Given the description of an element on the screen output the (x, y) to click on. 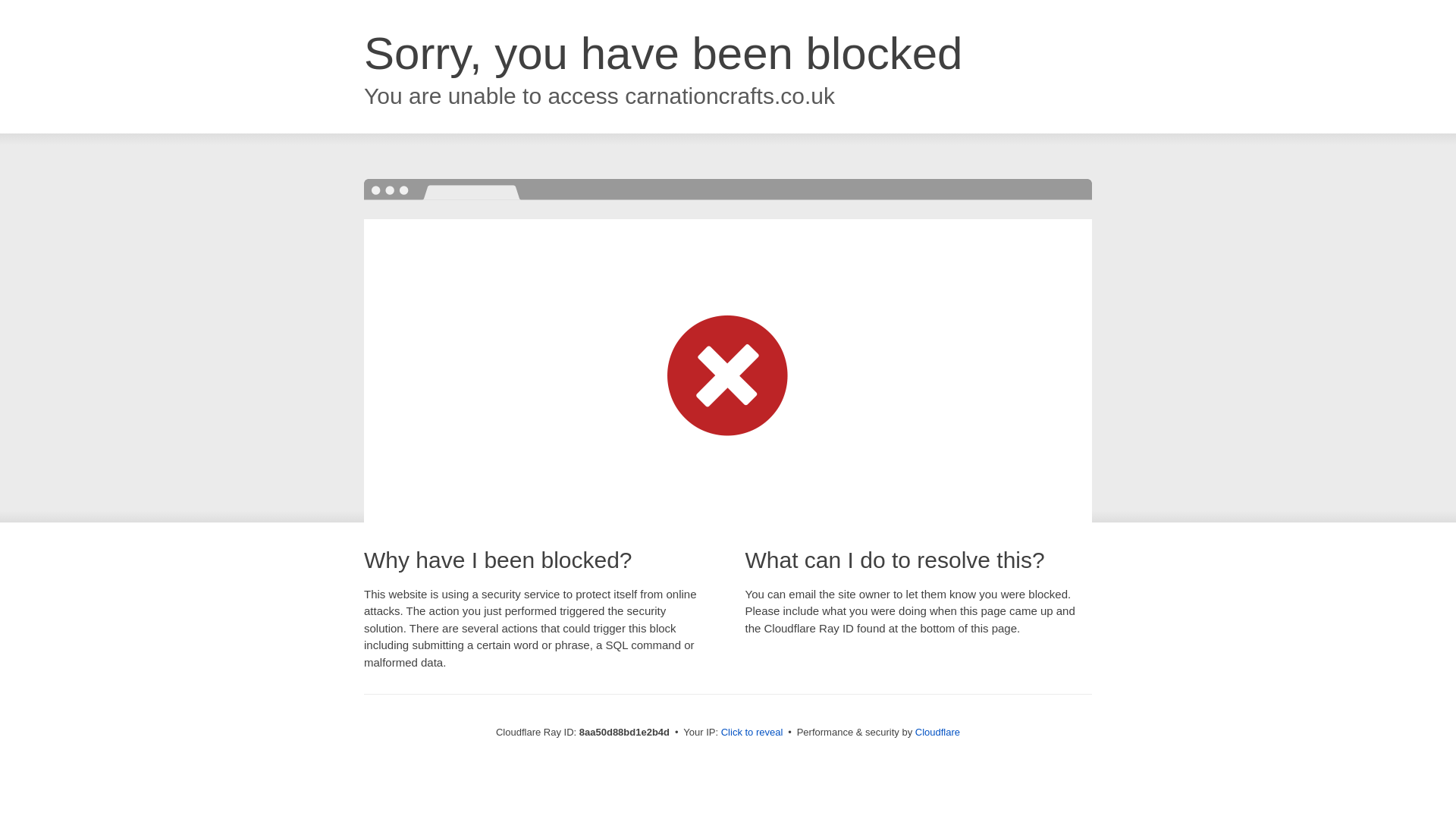
Click to reveal (751, 732)
Cloudflare (937, 731)
